Given the description of an element on the screen output the (x, y) to click on. 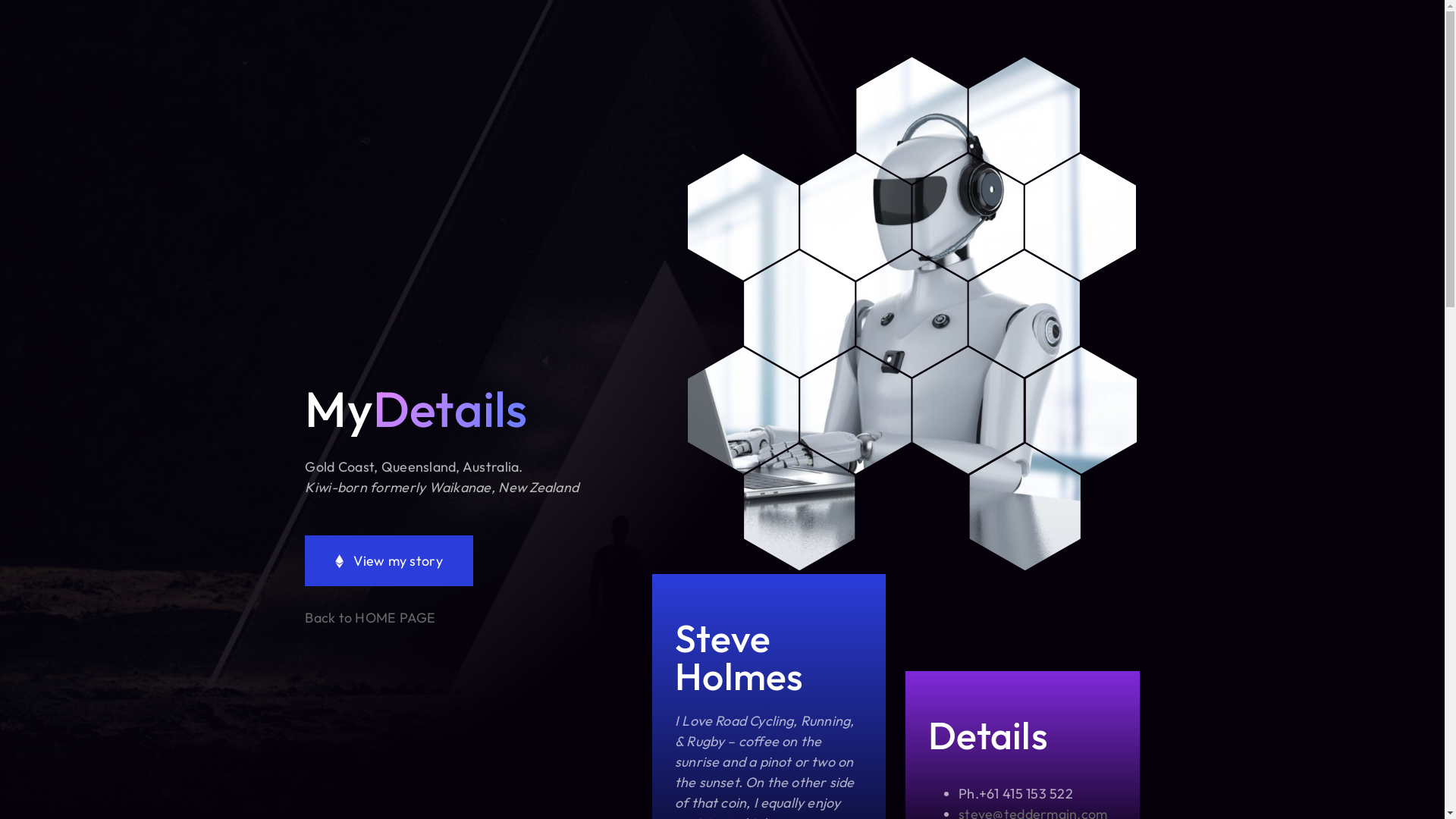
Back to HOME PAGE Element type: text (369, 617)
SteveHolmes Image-Services-2 Element type: hover (911, 313)
View my story Element type: text (388, 560)
